Given the description of an element on the screen output the (x, y) to click on. 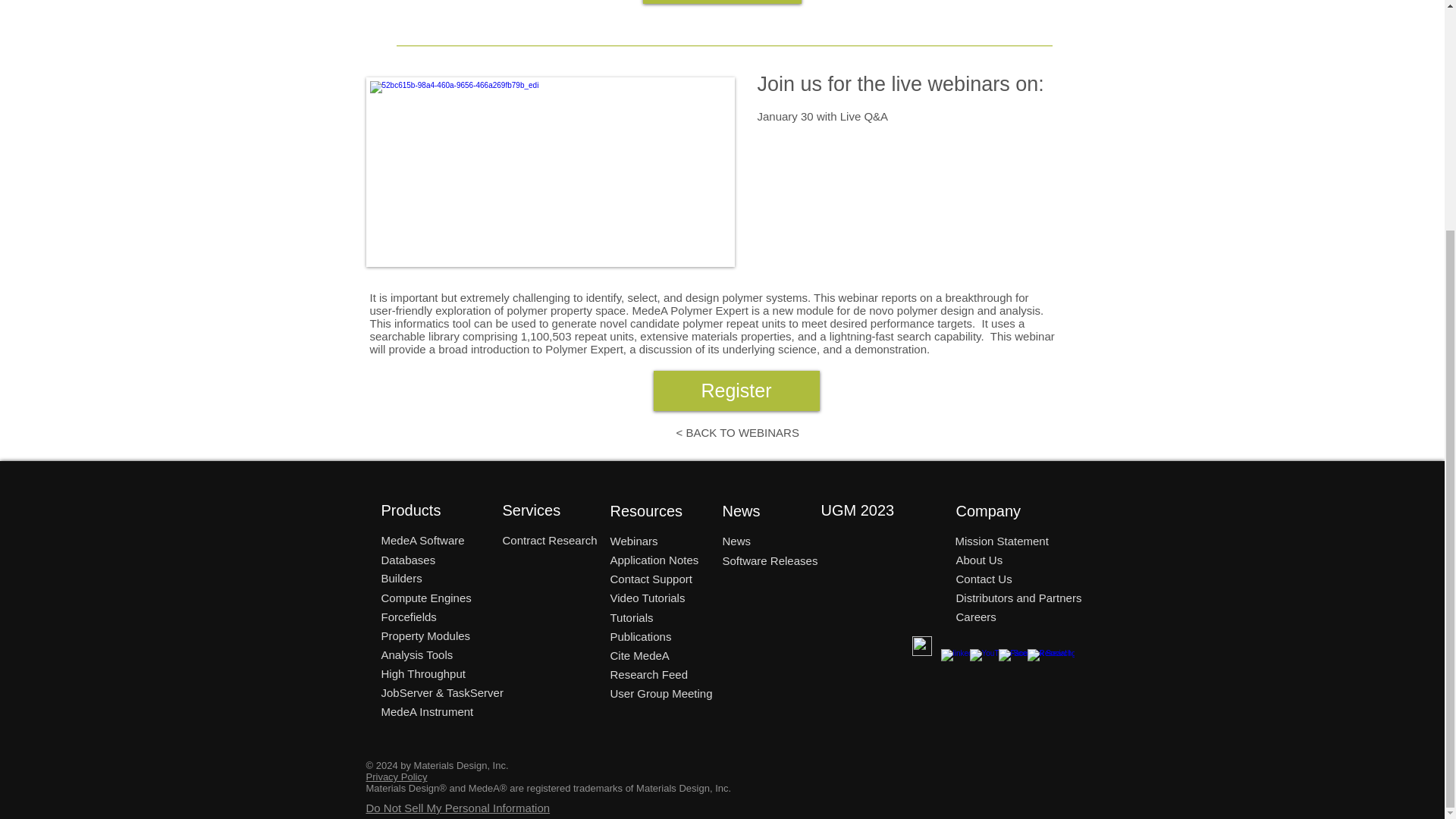
Register (736, 391)
Register (722, 2)
Polymer Expert.png (549, 171)
Products (425, 510)
